Given the description of an element on the screen output the (x, y) to click on. 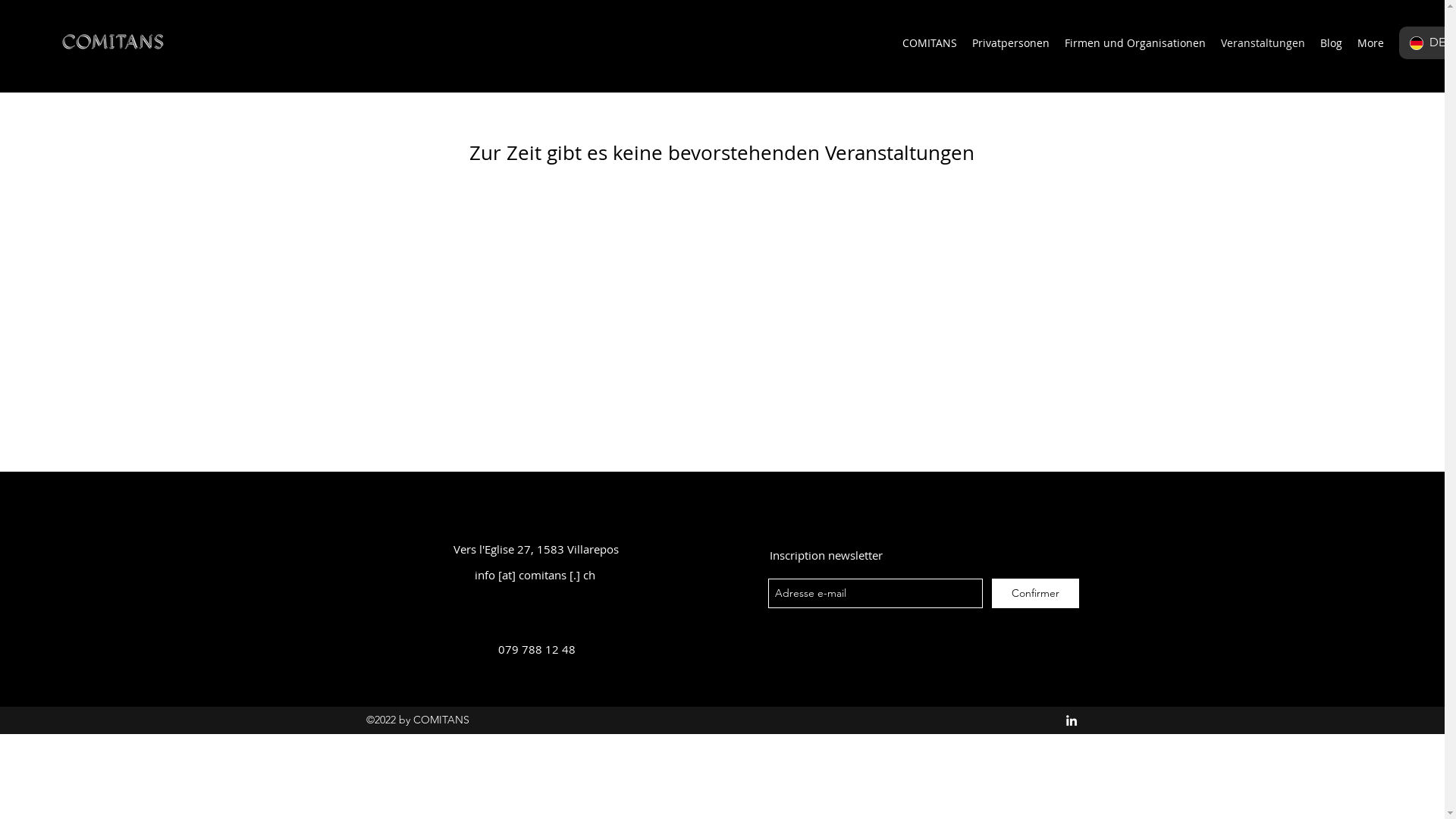
Veranstaltungen Element type: text (1262, 42)
Blog Element type: text (1330, 42)
COMITANS Element type: text (929, 42)
Firmen und Organisationen Element type: text (1135, 42)
Privatpersonen Element type: text (1010, 42)
Confirmer Element type: text (1035, 593)
